Given the description of an element on the screen output the (x, y) to click on. 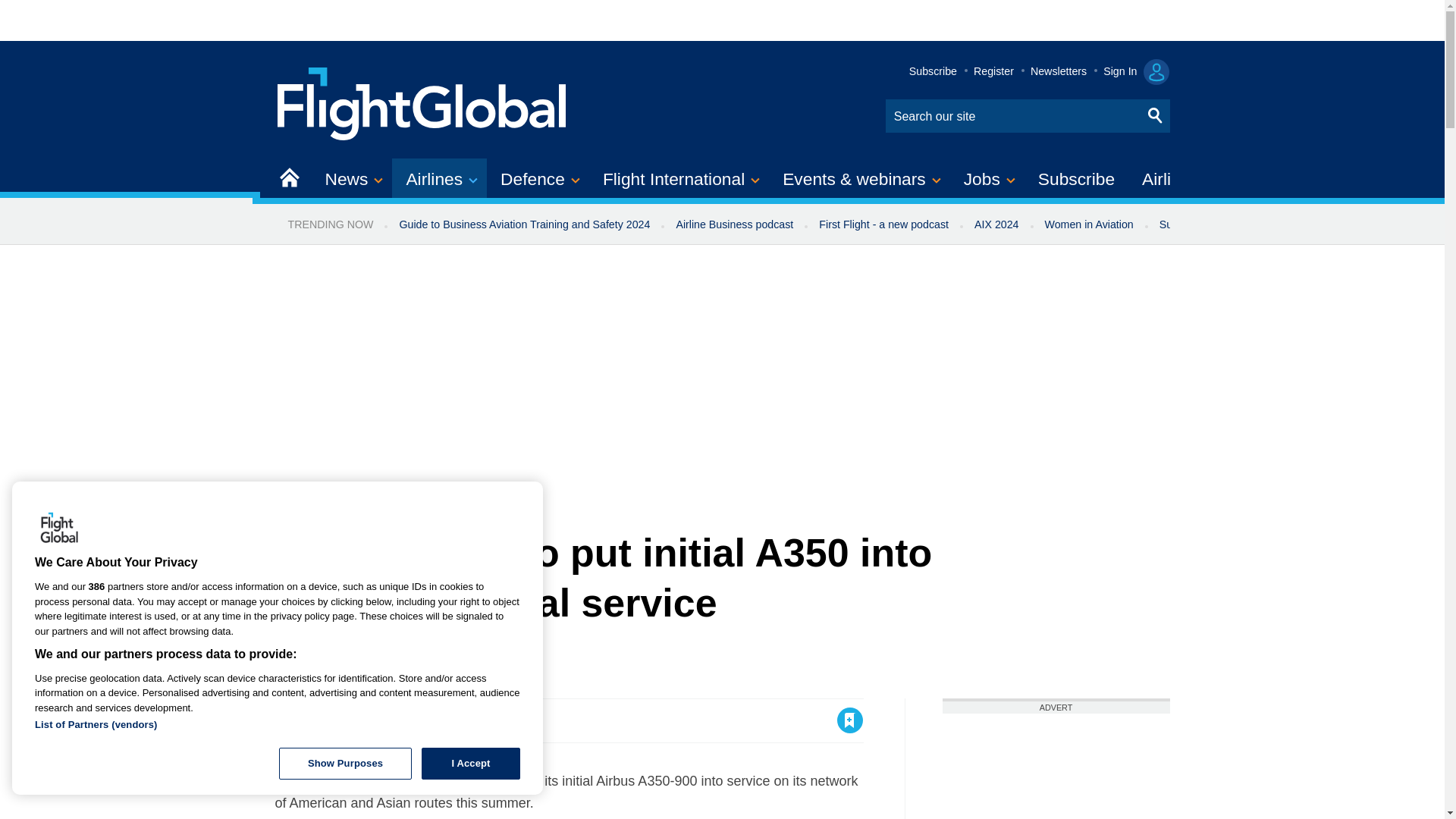
Share this on Twitter (320, 719)
Guide to Business Aviation Training and Safety 2024 (523, 224)
3rd party ad content (1055, 766)
Site name (422, 101)
Share this on Facebook (288, 719)
First Flight - a new podcast (883, 224)
Sustainable Aviation newsletter (1234, 224)
Women in Aviation (1089, 224)
Email this article (386, 719)
AIX 2024 (996, 224)
Airline Business podcast (734, 224)
